Given the description of an element on the screen output the (x, y) to click on. 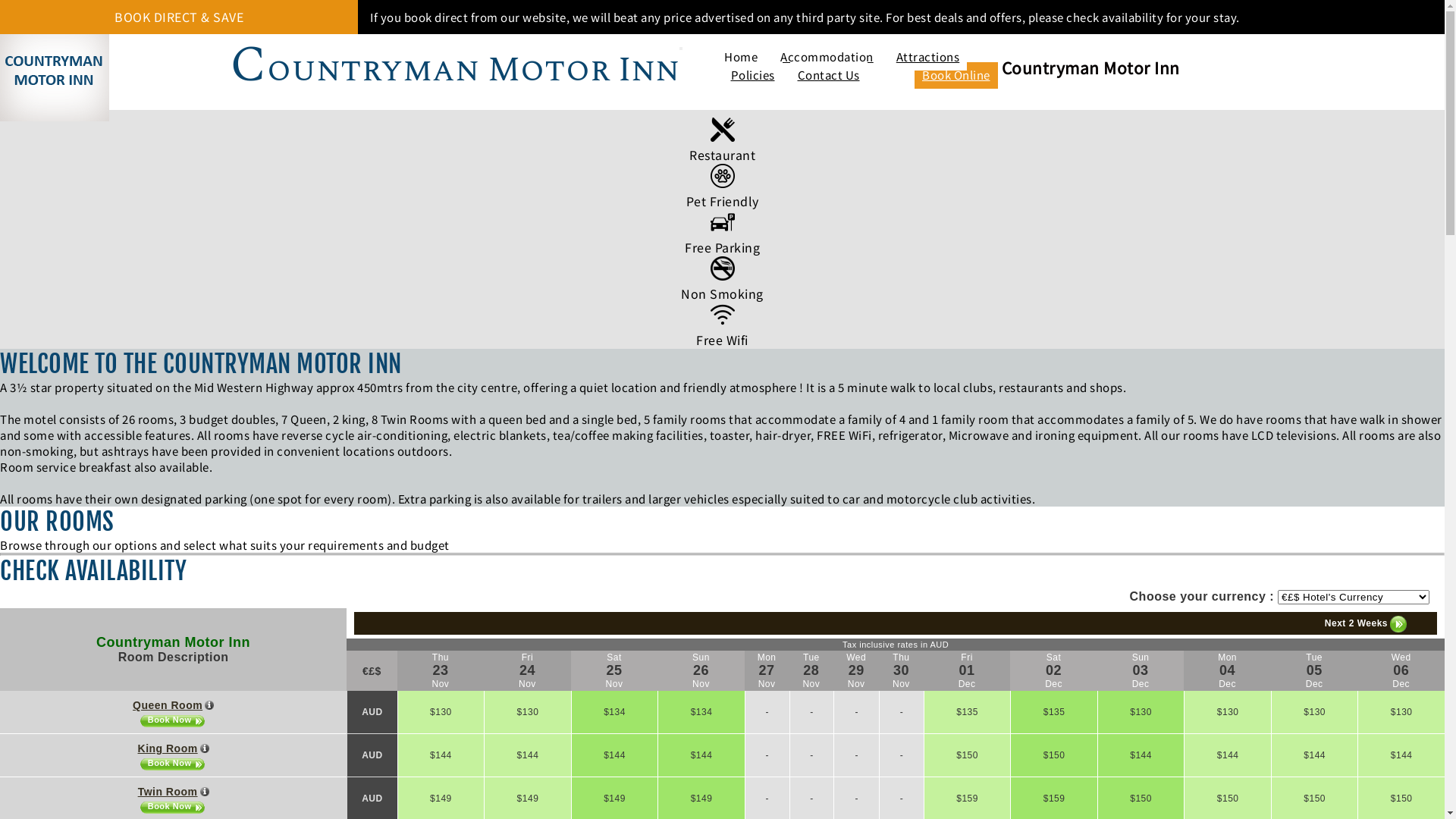
$144 Element type: text (440, 754)
Book Now Element type: text (173, 763)
Countryman Motor Inn Element type: text (173, 641)
Accommodation Element type: text (826, 56)
$130 Element type: text (1227, 711)
Home Element type: text (740, 56)
Attractions Element type: text (927, 56)
Next 2 Weeks Element type: text (1365, 623)
$134 Element type: text (701, 711)
Policies Element type: text (752, 75)
$144 Element type: text (1401, 754)
$150 Element type: text (1053, 754)
$135 Element type: text (1053, 711)
Book Now Element type: text (173, 720)
King Room Element type: text (173, 748)
$144 Element type: text (1314, 754)
$149 Element type: text (440, 798)
$149 Element type: text (527, 798)
BOOK DIRECT & SAVE Element type: text (178, 17)
$149 Element type: text (701, 798)
$150 Element type: text (1401, 798)
$144 Element type: text (614, 754)
Contact Us Element type: text (828, 75)
$150 Element type: text (1227, 798)
$144 Element type: text (1227, 754)
Book Now Element type: text (173, 807)
$144 Element type: text (701, 754)
$130 Element type: text (1401, 711)
$150 Element type: text (967, 754)
$150 Element type: text (1140, 798)
$130 Element type: text (527, 711)
$144 Element type: text (527, 754)
$130 Element type: text (1140, 711)
Queen Room Element type: text (172, 705)
$159 Element type: text (967, 798)
$130 Element type: text (1314, 711)
Twin Room Element type: text (173, 791)
$150 Element type: text (1314, 798)
$135 Element type: text (967, 711)
$130 Element type: text (440, 711)
$149 Element type: text (614, 798)
$144 Element type: text (1140, 754)
$134 Element type: text (614, 711)
Book Online Element type: text (955, 75)
$159 Element type: text (1053, 798)
